Given the description of an element on the screen output the (x, y) to click on. 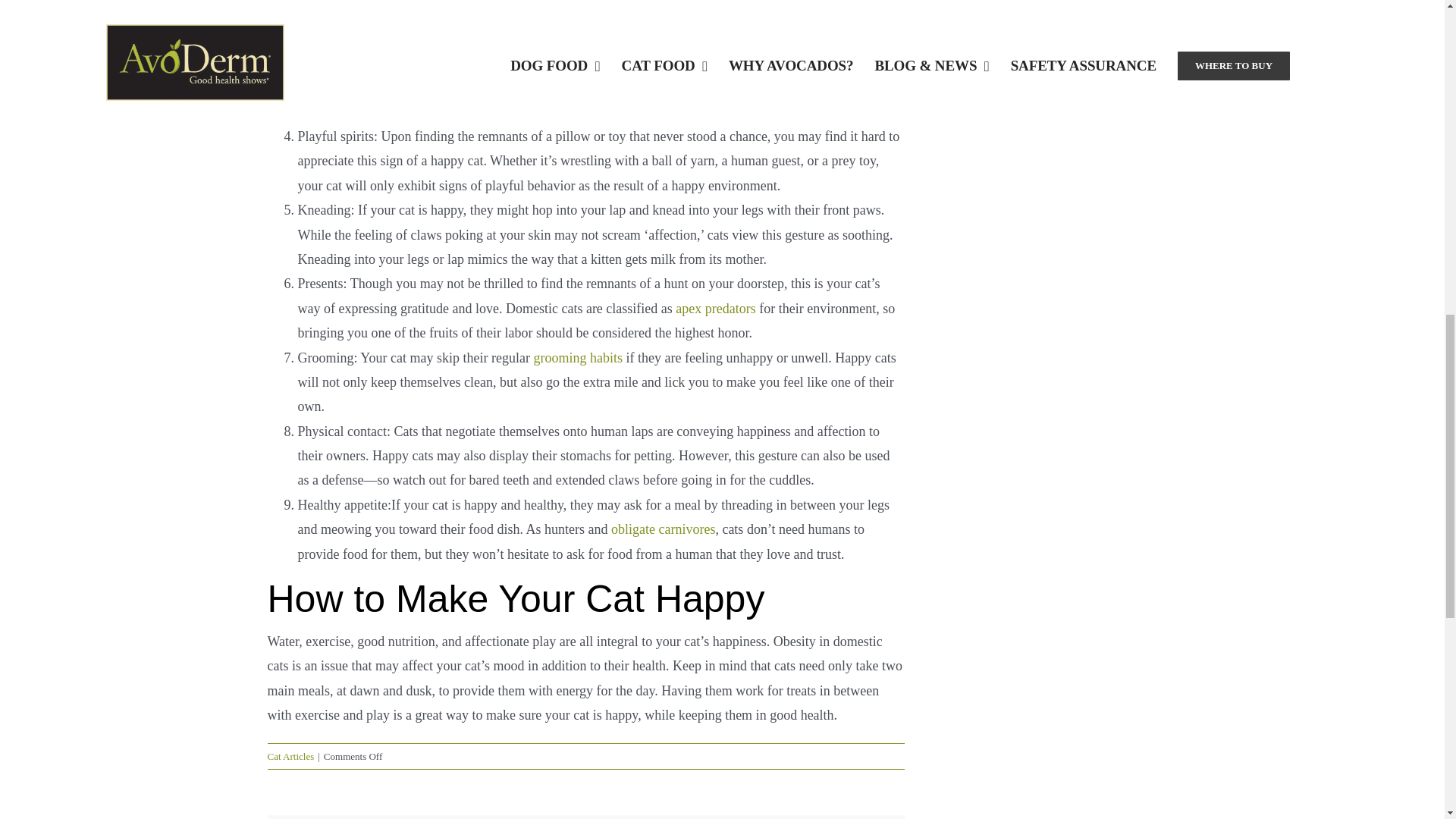
Cat Articles (290, 756)
grooming habits (577, 357)
apex predators (715, 308)
obligate carnivores (662, 529)
